Given the description of an element on the screen output the (x, y) to click on. 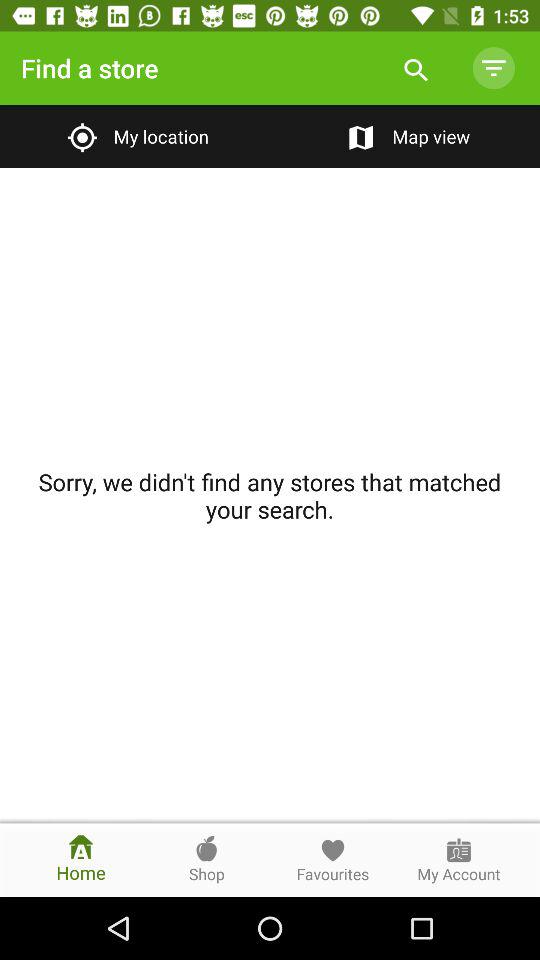
click map view item (404, 136)
